Given the description of an element on the screen output the (x, y) to click on. 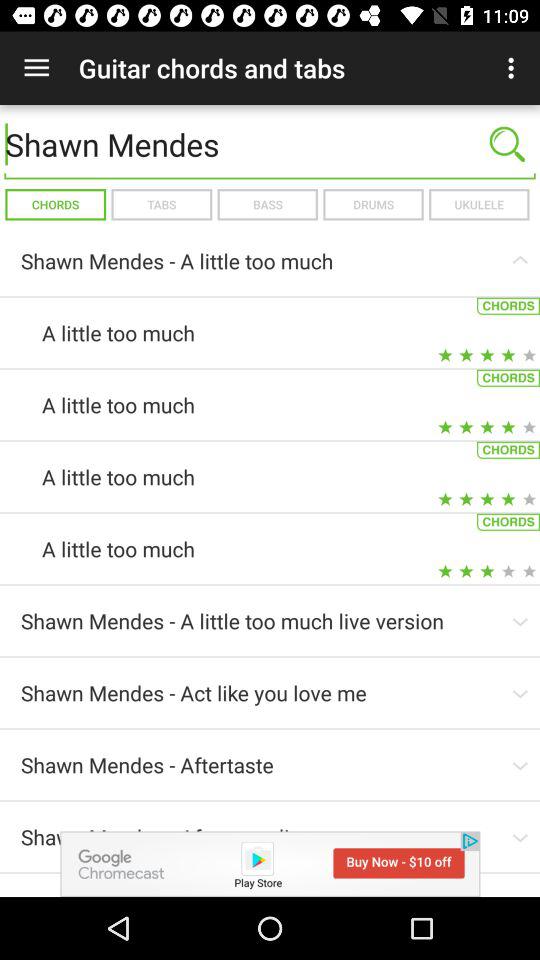
tap the item next to tabs icon (267, 204)
